Given the description of an element on the screen output the (x, y) to click on. 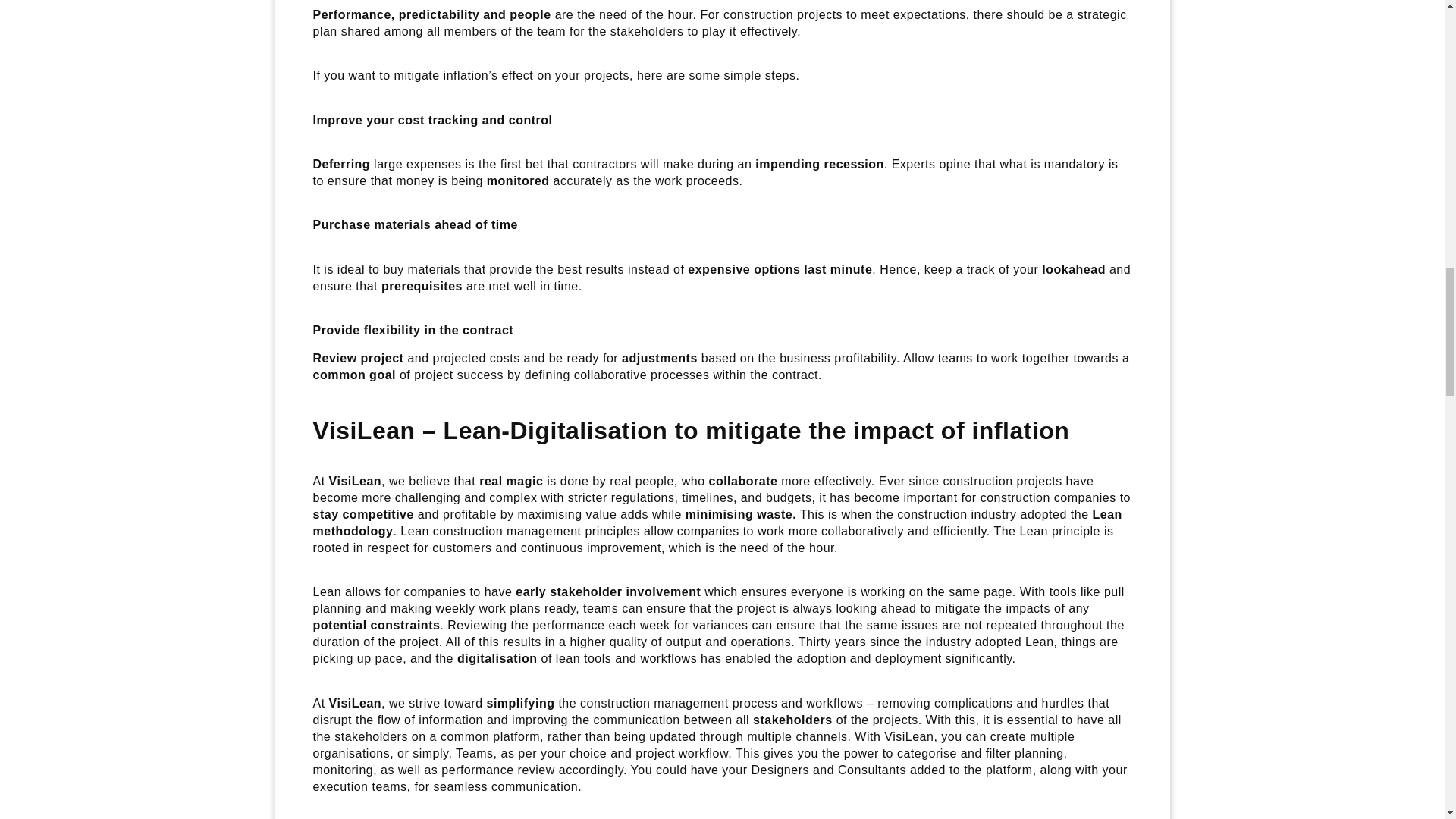
VisiLean (355, 481)
Lean methodology (717, 522)
